Given the description of an element on the screen output the (x, y) to click on. 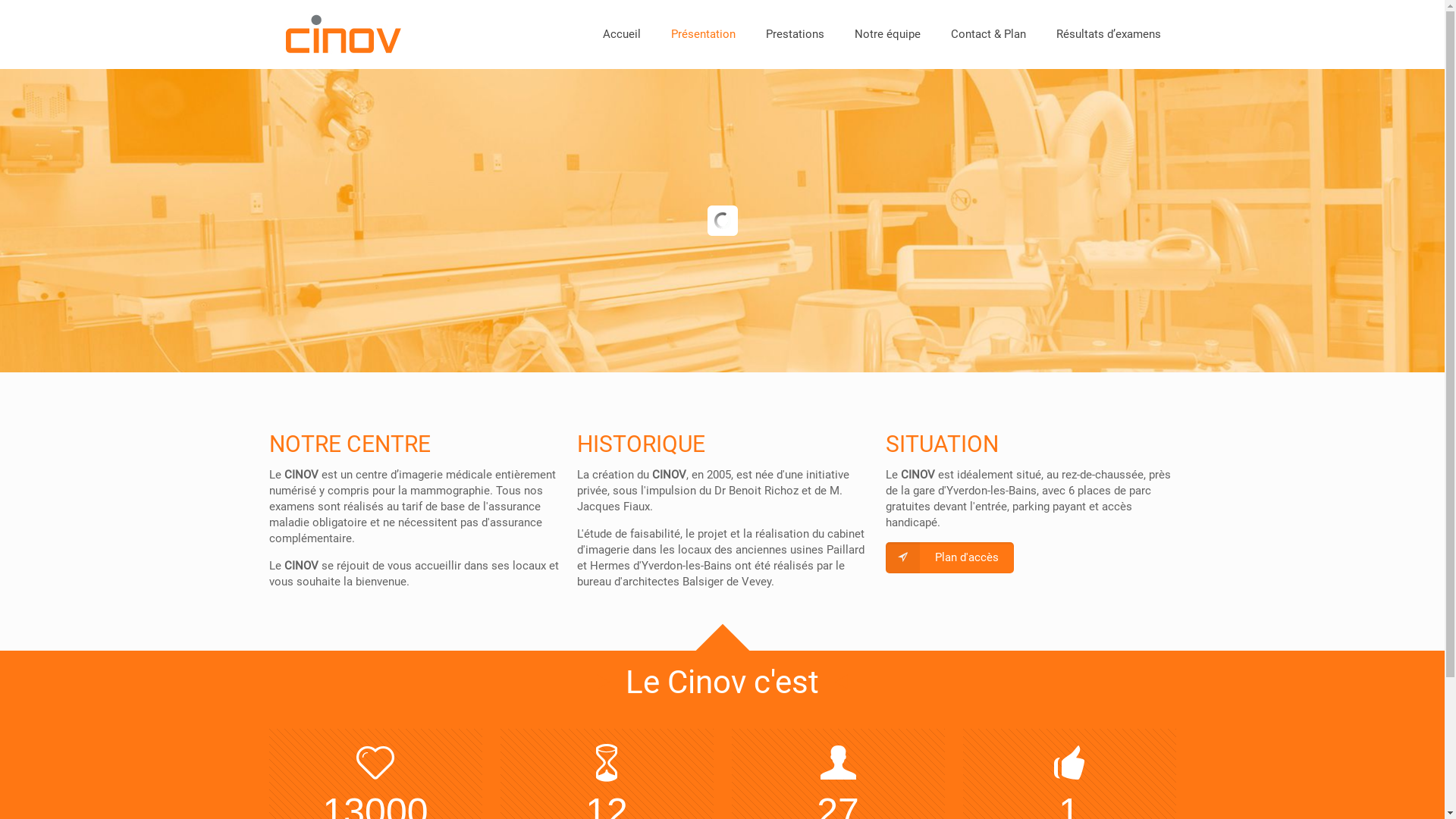
Prestations Element type: text (794, 34)
Accueil Element type: text (620, 34)
Cinov Element type: hover (342, 34)
Contact & Plan Element type: text (988, 34)
